Given the description of an element on the screen output the (x, y) to click on. 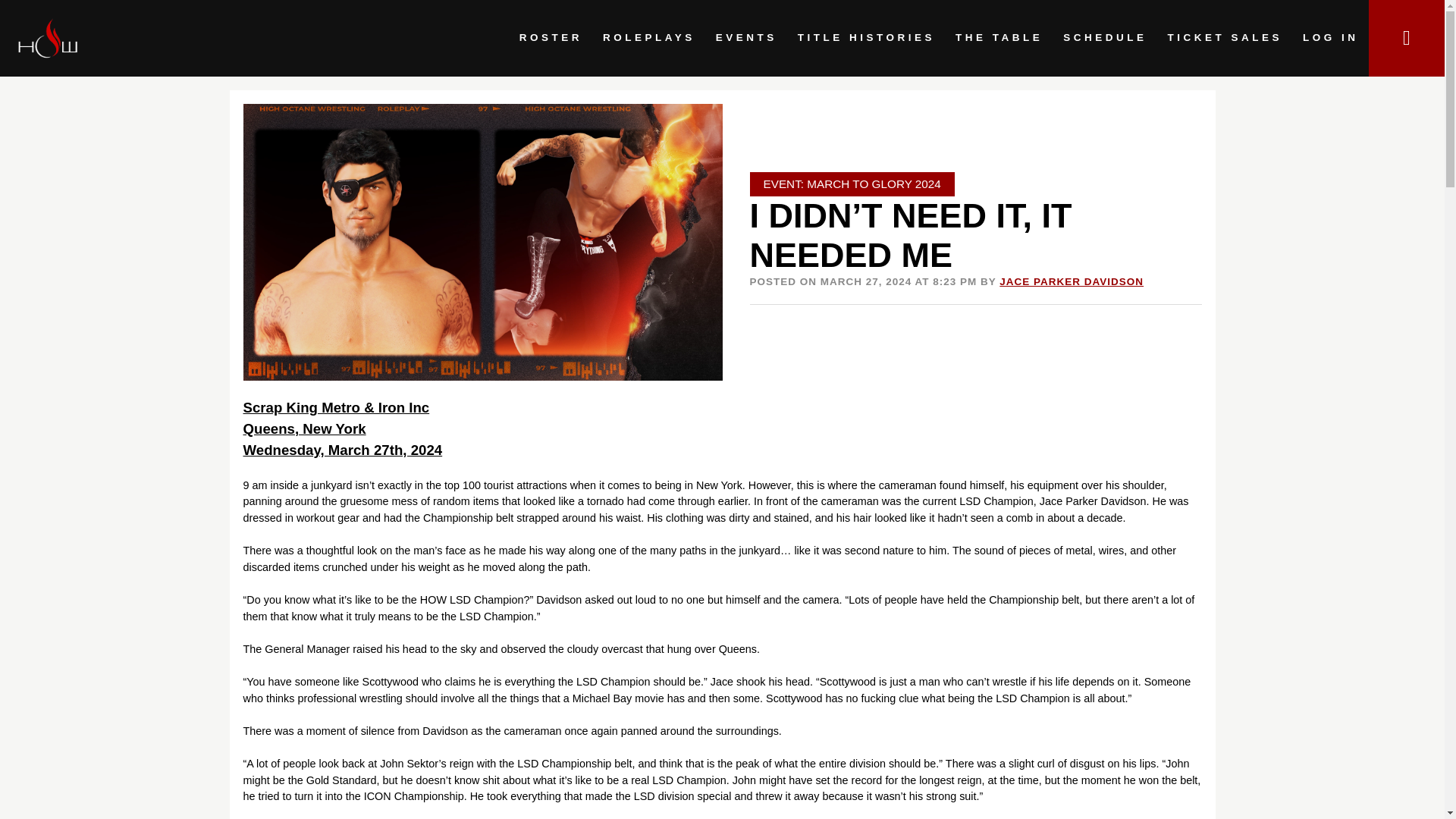
EVENTS (745, 38)
TICKET SALES (1224, 38)
SCHEDULE (1104, 38)
ROLEPLAYS (648, 38)
TITLE HISTORIES (865, 38)
ROSTER (550, 38)
LOG IN (1330, 38)
THE TABLE (998, 38)
